Given the description of an element on the screen output the (x, y) to click on. 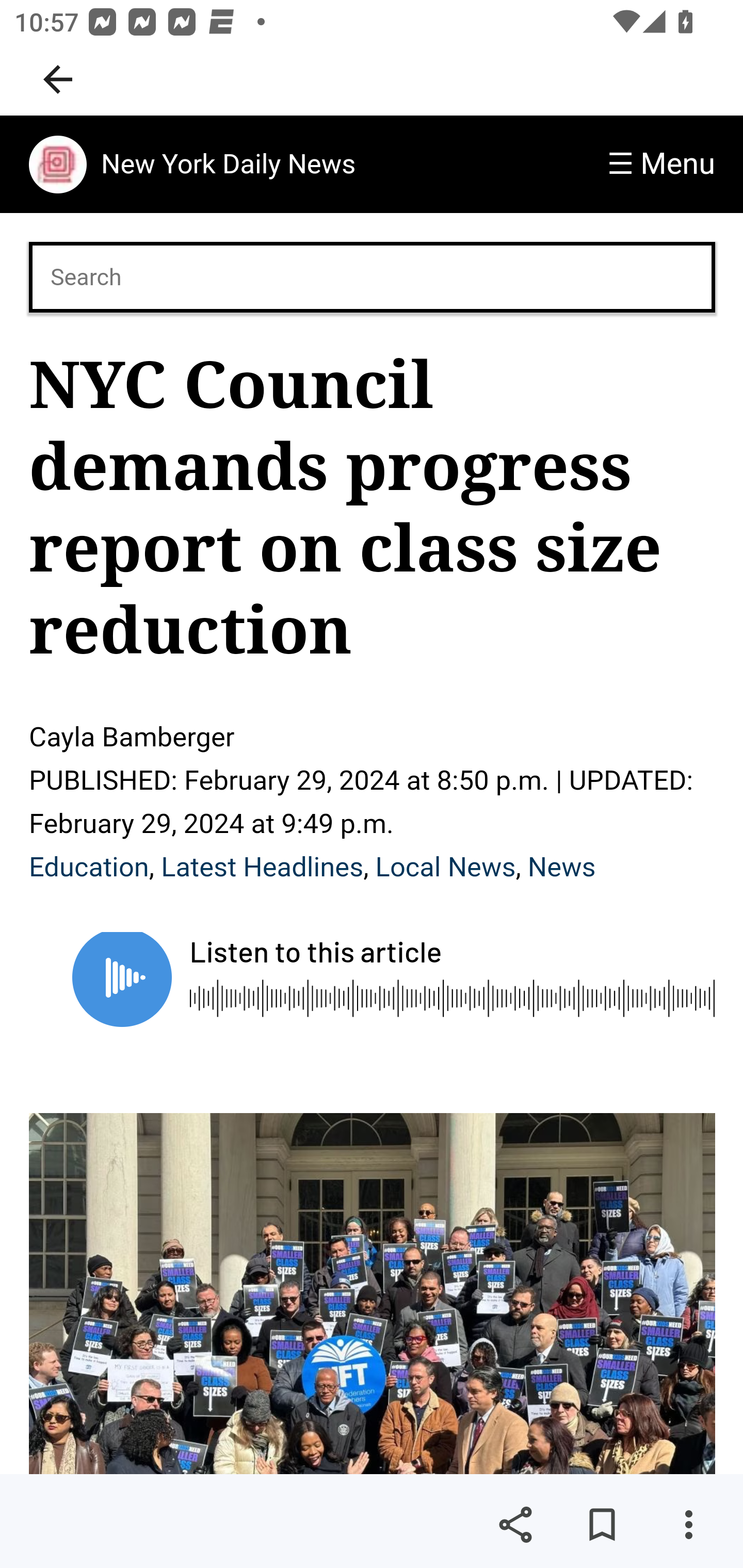
Navigate up (57, 79)
☰ Menu (661, 163)
Education (88, 866)
Latest Headlines (262, 866)
Local News (444, 866)
News (561, 866)
Play (122, 979)
Share (514, 1524)
Save for later (601, 1524)
More options (688, 1524)
